Given the description of an element on the screen output the (x, y) to click on. 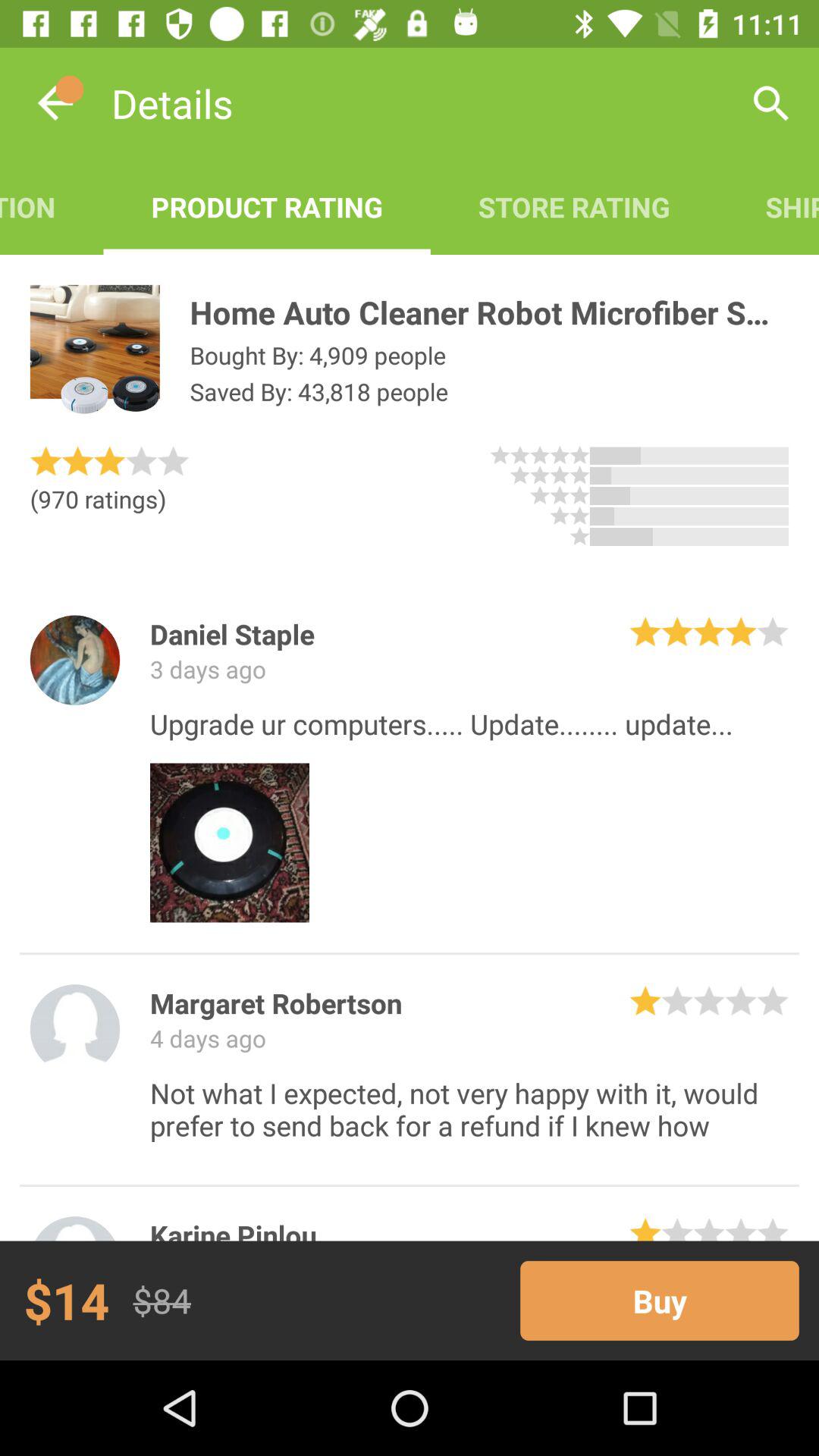
scroll until description app (51, 206)
